Given the description of an element on the screen output the (x, y) to click on. 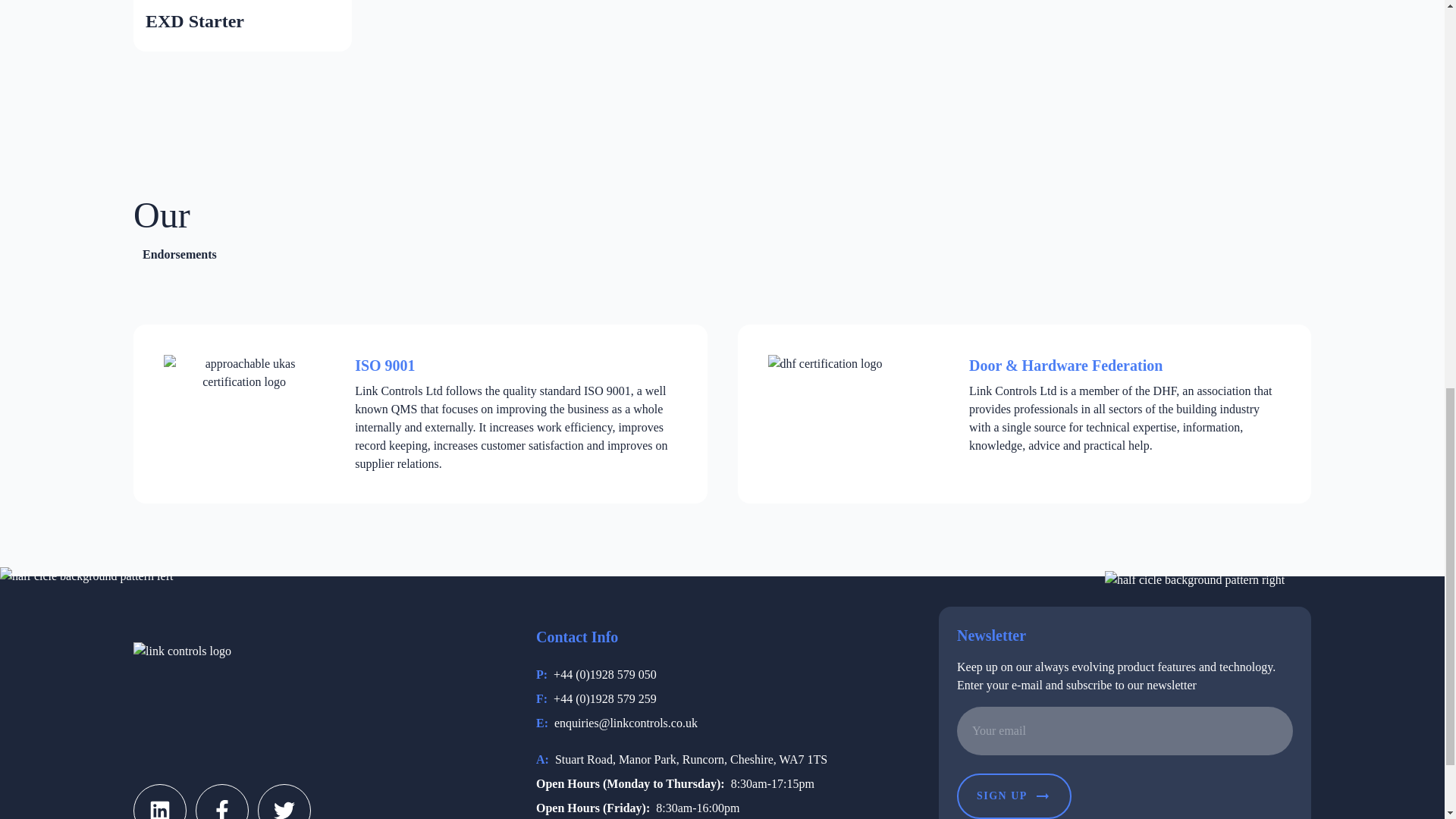
SIGN UP (1013, 796)
